Given the description of an element on the screen output the (x, y) to click on. 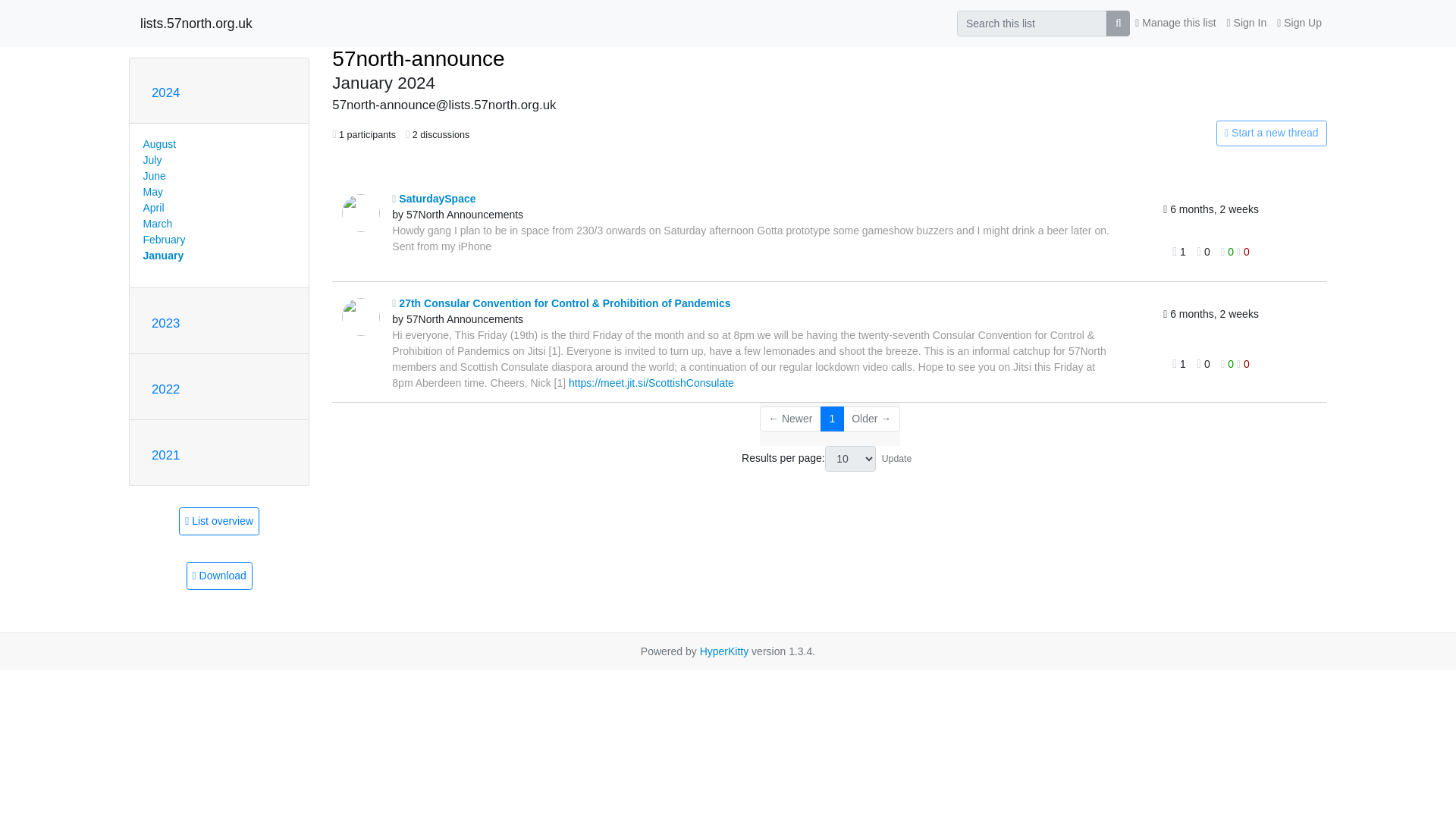
You must be logged-in to create a thread. (1168, 133)
May (151, 191)
June (153, 175)
You must be logged-in to vote. (1228, 251)
January (162, 255)
2023 (165, 323)
July (151, 159)
Sign Up (1298, 22)
2024 (165, 92)
You must be logged-in to vote. (1242, 251)
Monday, 15 January 2024 22:26:05 (1211, 314)
Update (897, 457)
February (163, 239)
lists.57north.org.uk (195, 22)
April (152, 207)
